Given the description of an element on the screen output the (x, y) to click on. 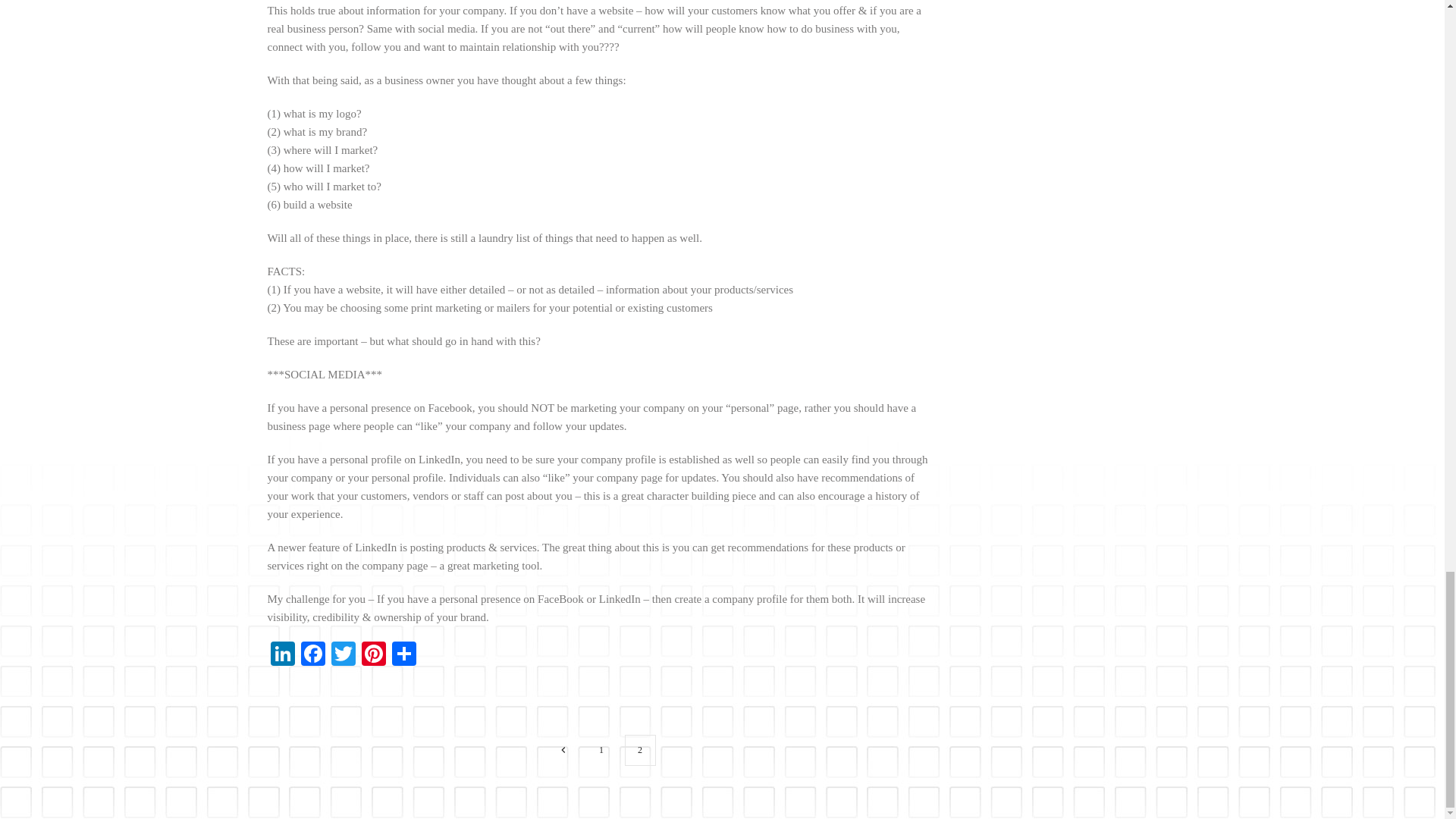
Twitter (342, 655)
Facebook (312, 655)
LinkedIn (281, 655)
Pinterest (373, 655)
